Given the description of an element on the screen output the (x, y) to click on. 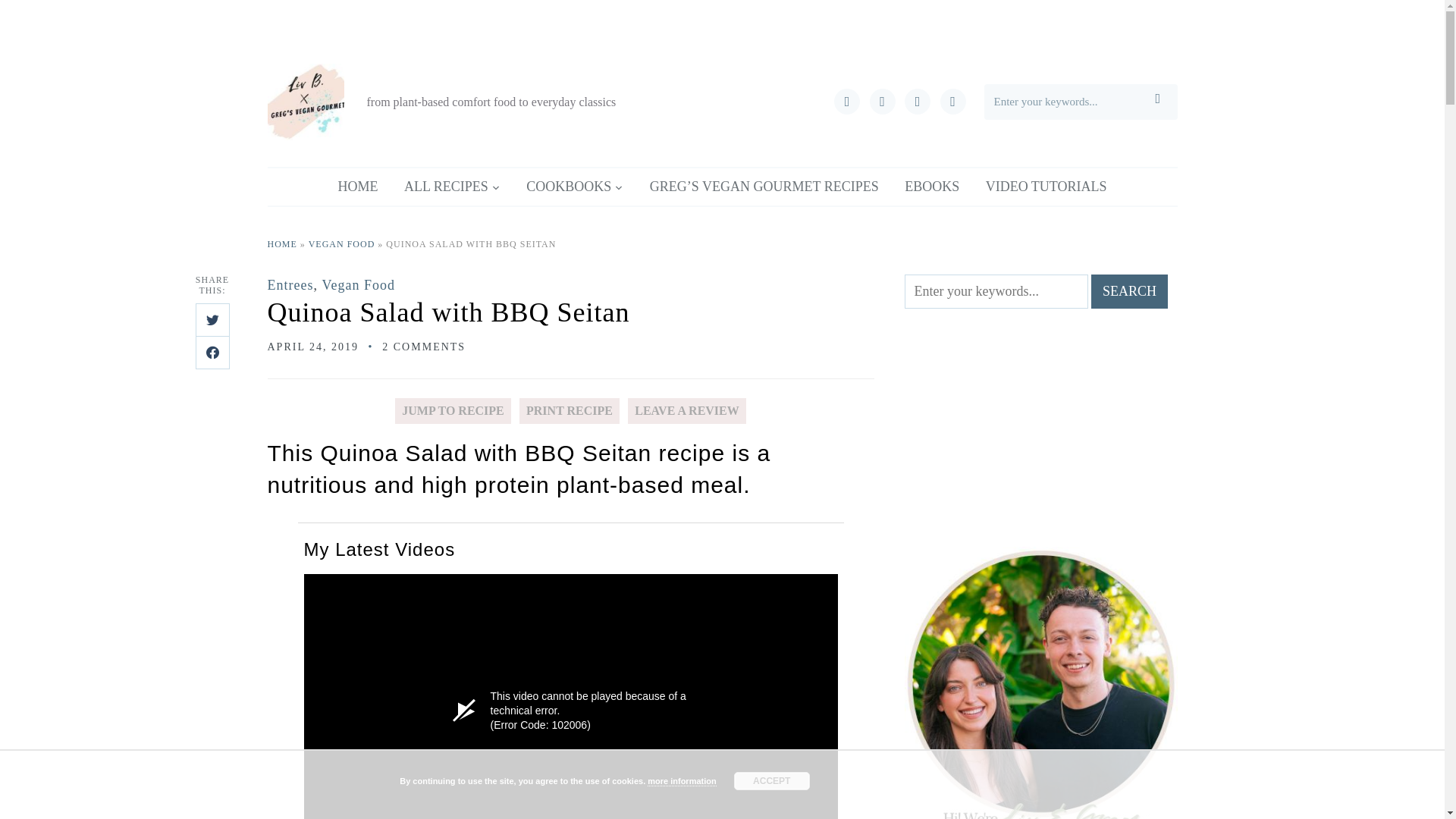
tiktok (847, 99)
Default Label (882, 99)
LEAVE A REVIEW (686, 411)
Tik Tok (847, 99)
Default Label (917, 99)
instagram (917, 99)
JUMP TO RECIPE (452, 411)
pinterest (953, 99)
Click to share on Twitter (212, 319)
Click to share on Facebook (212, 352)
Search (1128, 291)
youtube (882, 99)
Default Label (953, 99)
Search (1128, 291)
